Given the description of an element on the screen output the (x, y) to click on. 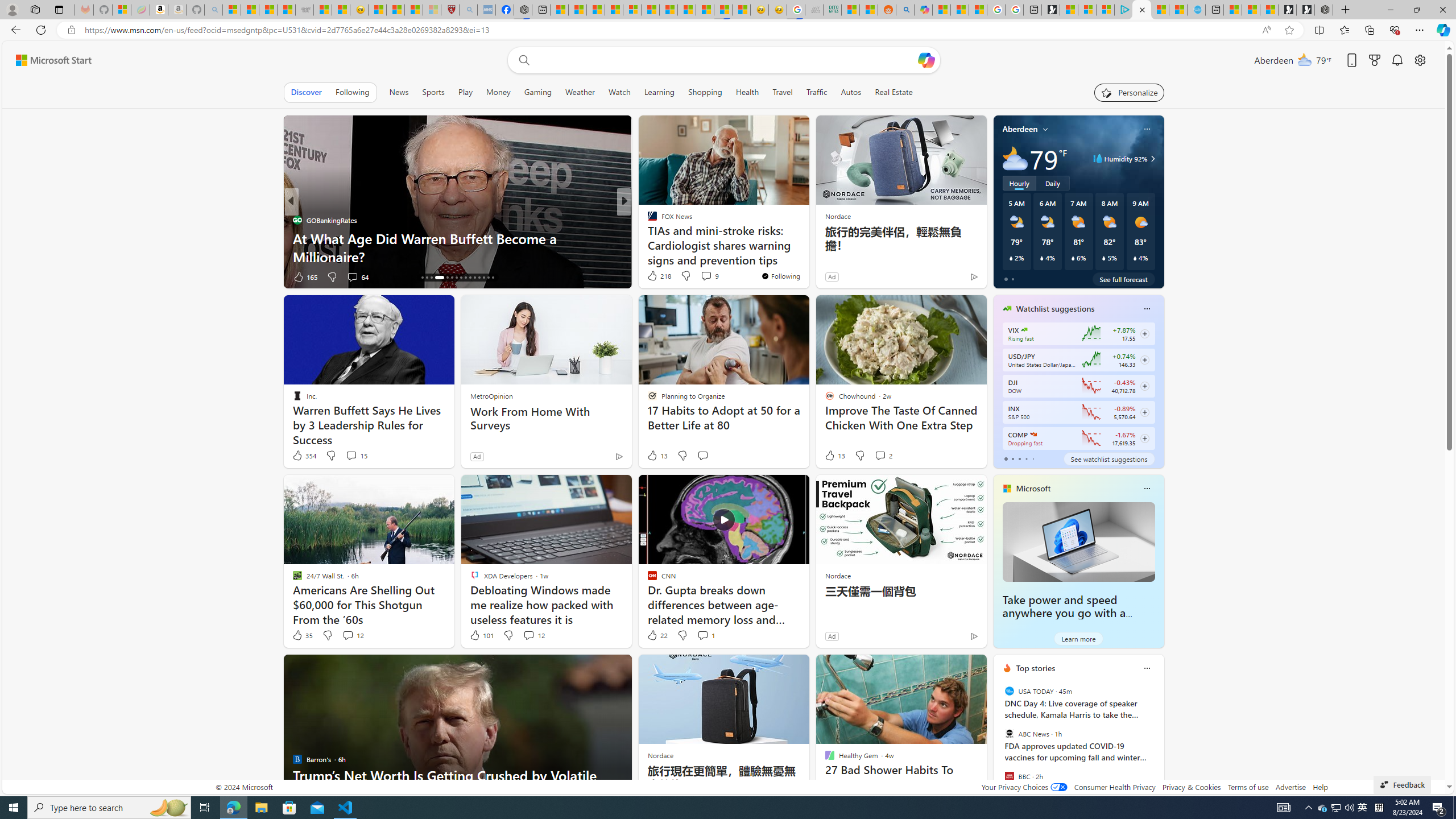
Work From Home With Surveys (546, 418)
8 proven ways to slow down biological aging (807, 256)
Keep Butter Out Of The Fridge? We've Got Grim News For You (807, 247)
MarketBeat (647, 238)
